Given the description of an element on the screen output the (x, y) to click on. 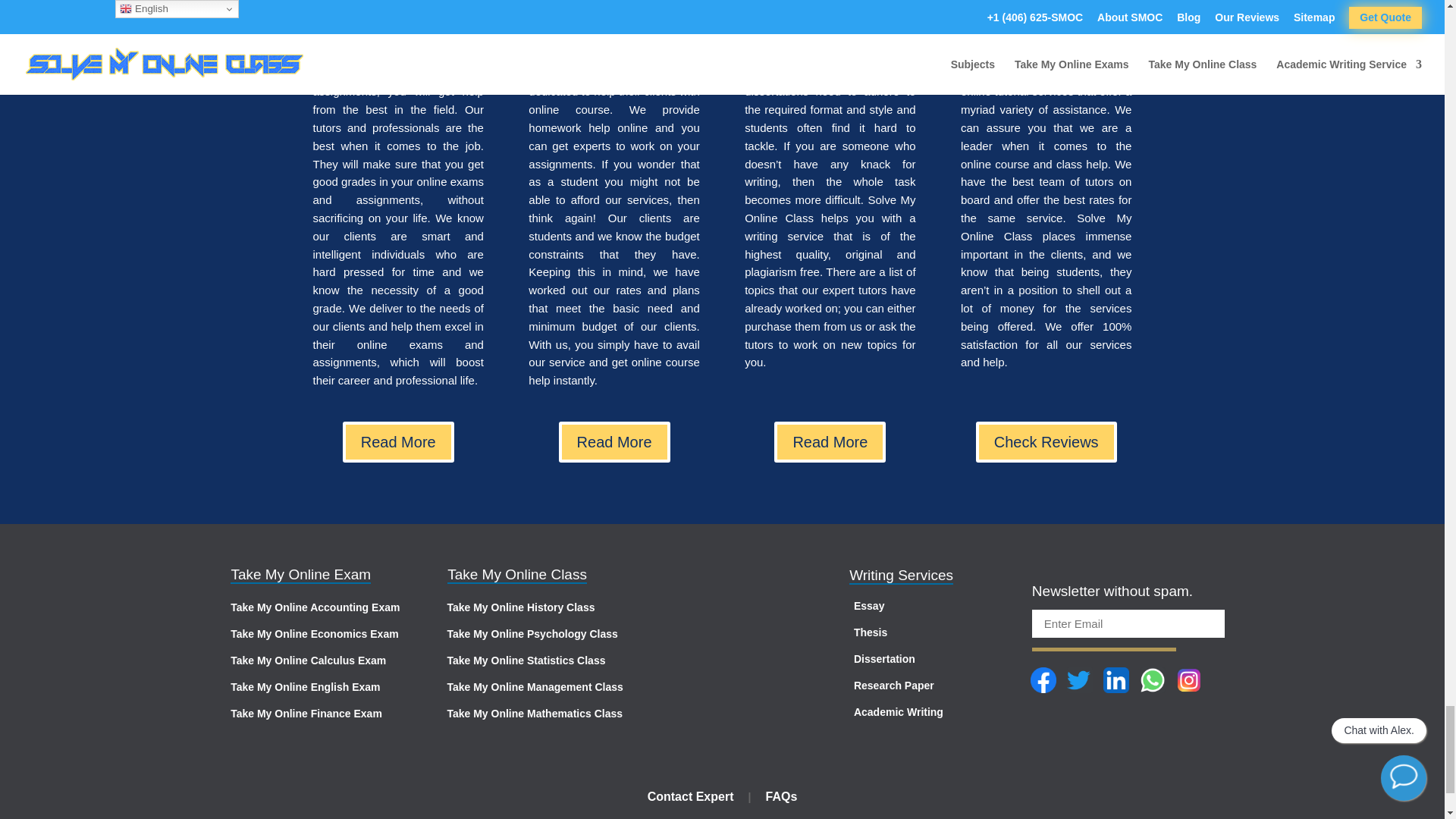
Subscribe Now (1104, 637)
